Given the description of an element on the screen output the (x, y) to click on. 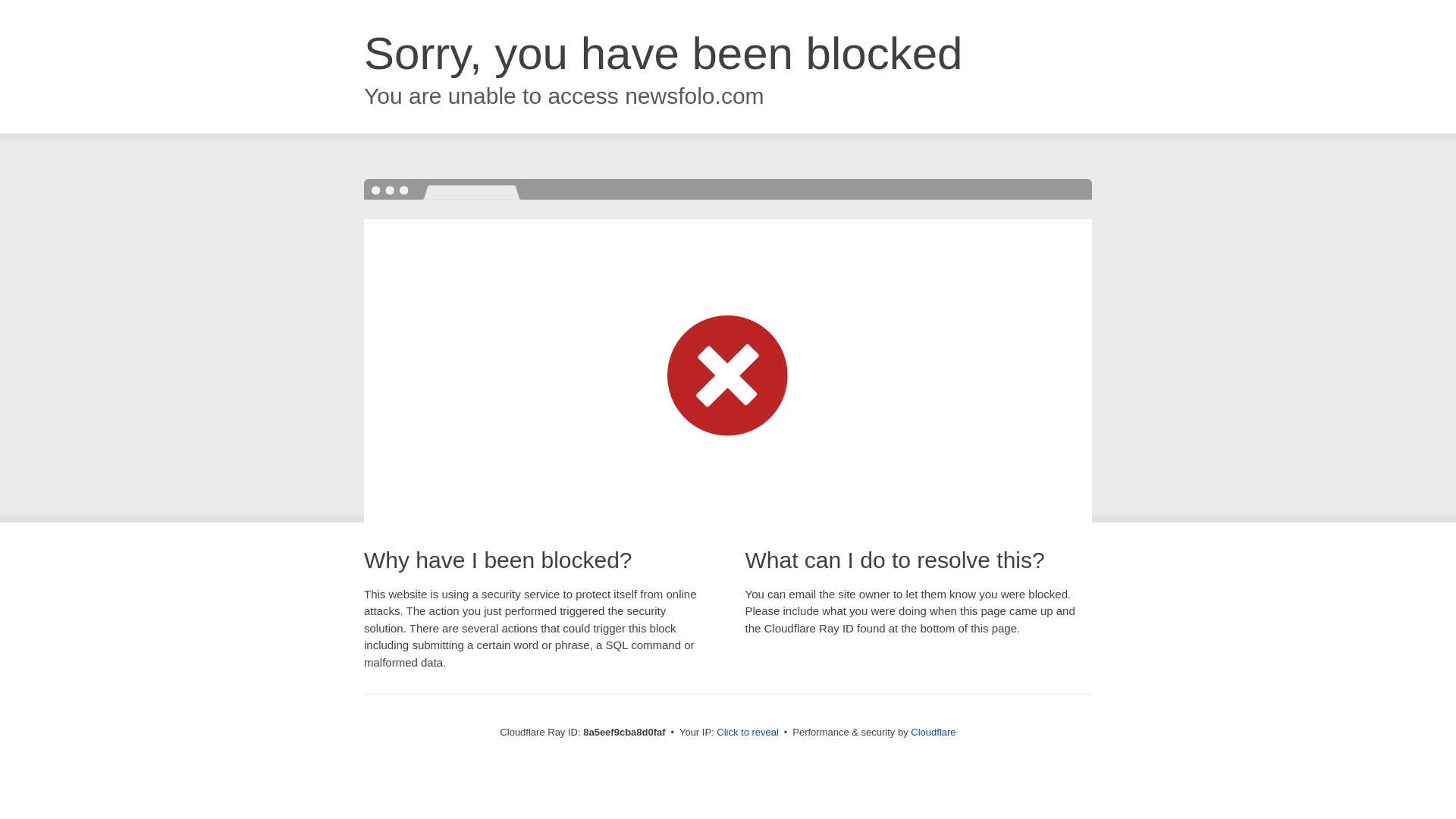
Cloudflare (933, 731)
Click to reveal (747, 732)
